Given the description of an element on the screen output the (x, y) to click on. 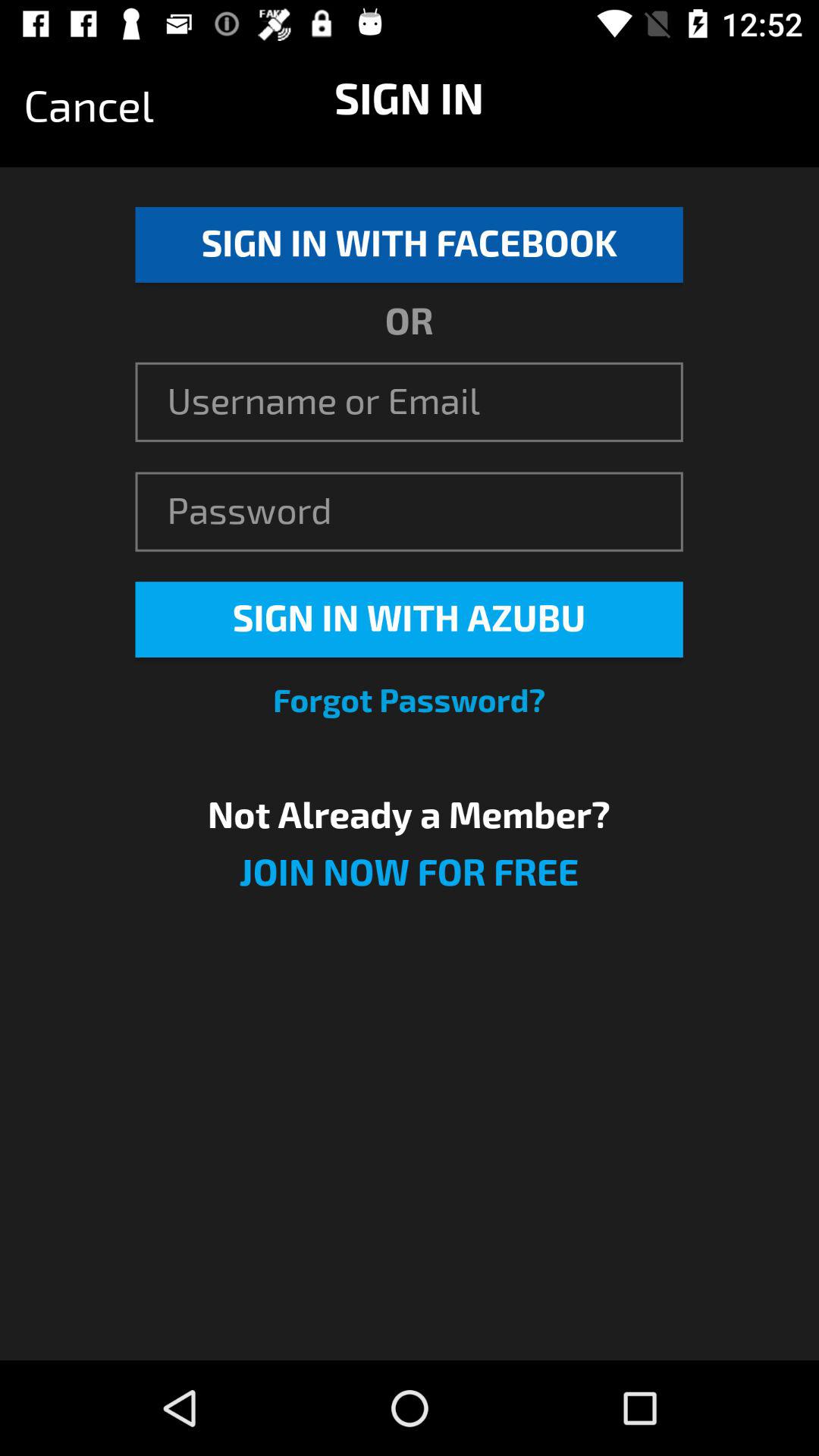
open the forgot password? (409, 701)
